Given the description of an element on the screen output the (x, y) to click on. 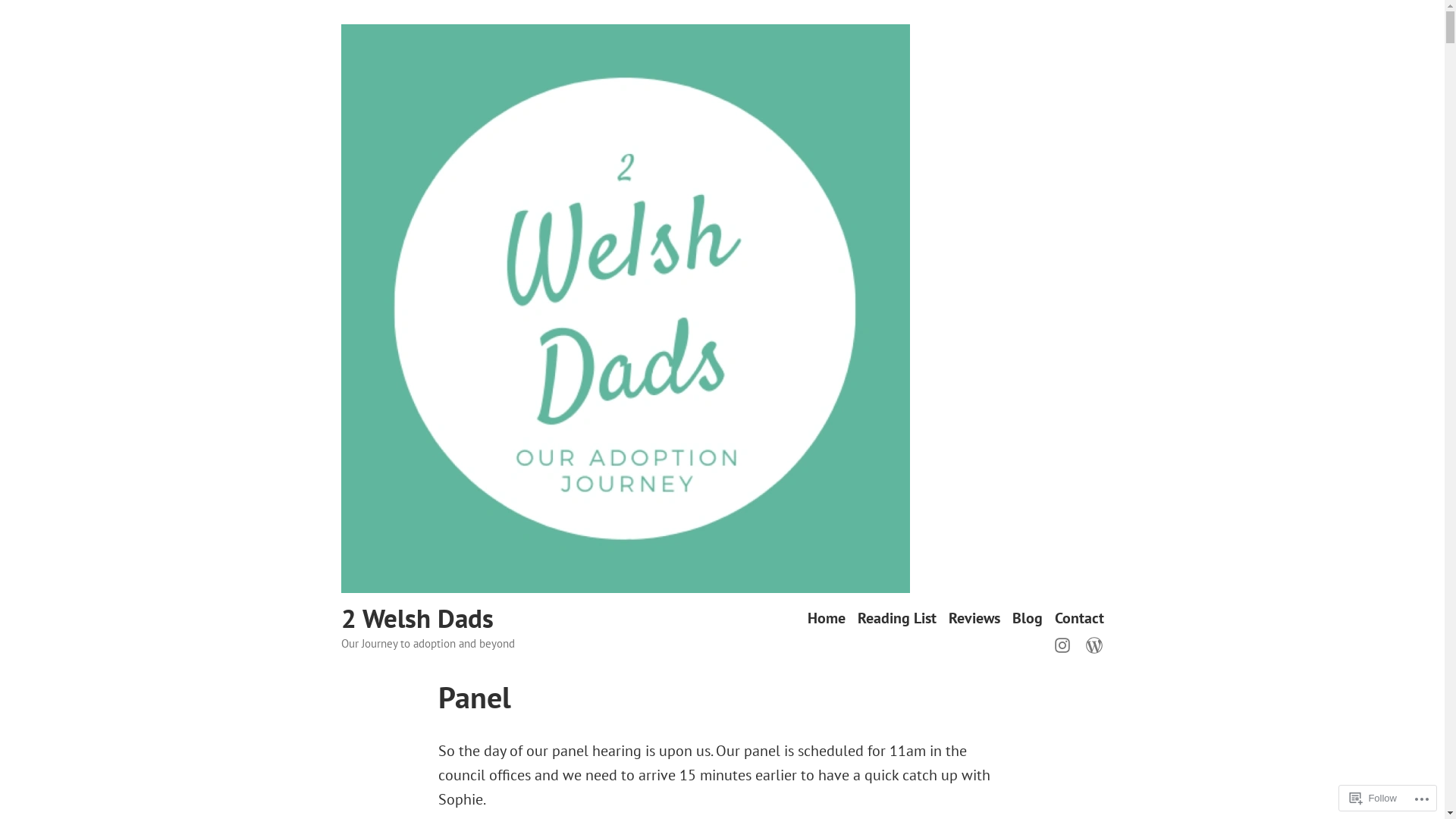
2WelshDads Element type: hover (1065, 643)
Blog Element type: text (1026, 618)
Reviews Element type: text (973, 618)
Reading List Element type: text (895, 618)
2 Welsh Dads Element type: text (417, 617)
Contact Element type: text (1078, 618)
Home Element type: text (825, 618)
Panel Element type: text (474, 696)
Follow Element type: text (1372, 797)
